Given the description of an element on the screen output the (x, y) to click on. 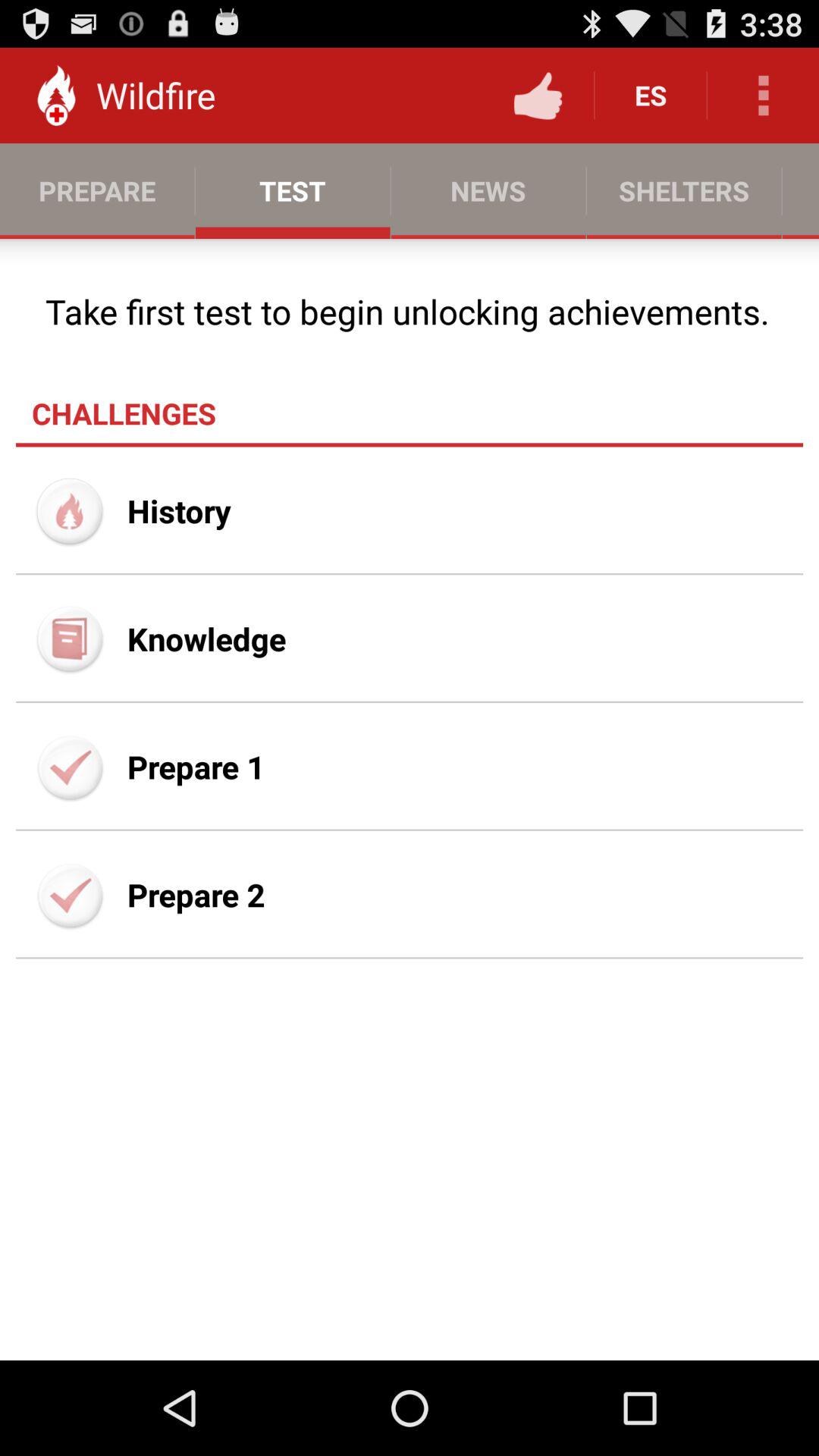
press the icon to the right of wildfire app (537, 95)
